Given the description of an element on the screen output the (x, y) to click on. 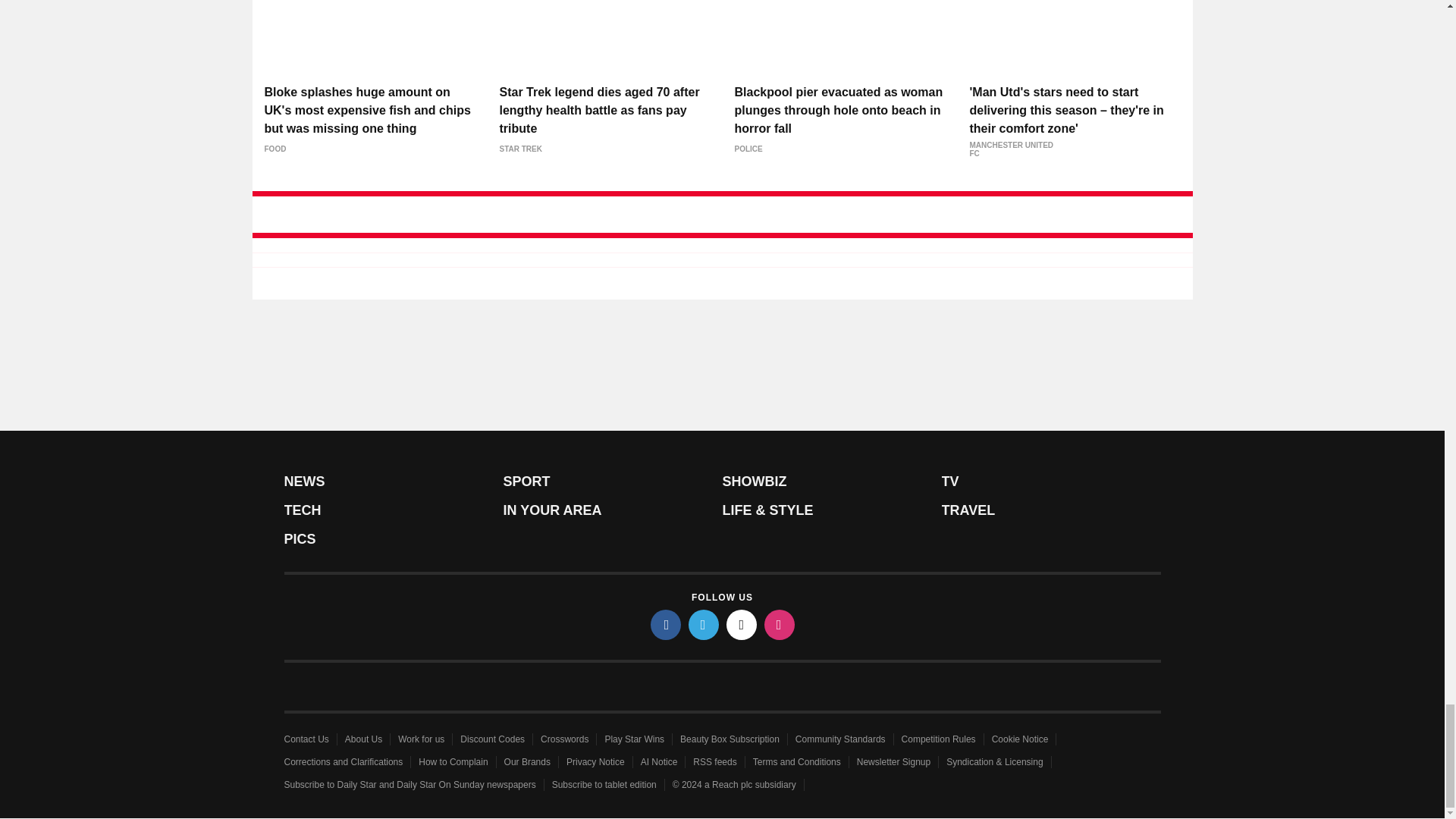
facebook (665, 624)
twitter (703, 624)
instagram (779, 624)
tiktok (741, 624)
